Given the description of an element on the screen output the (x, y) to click on. 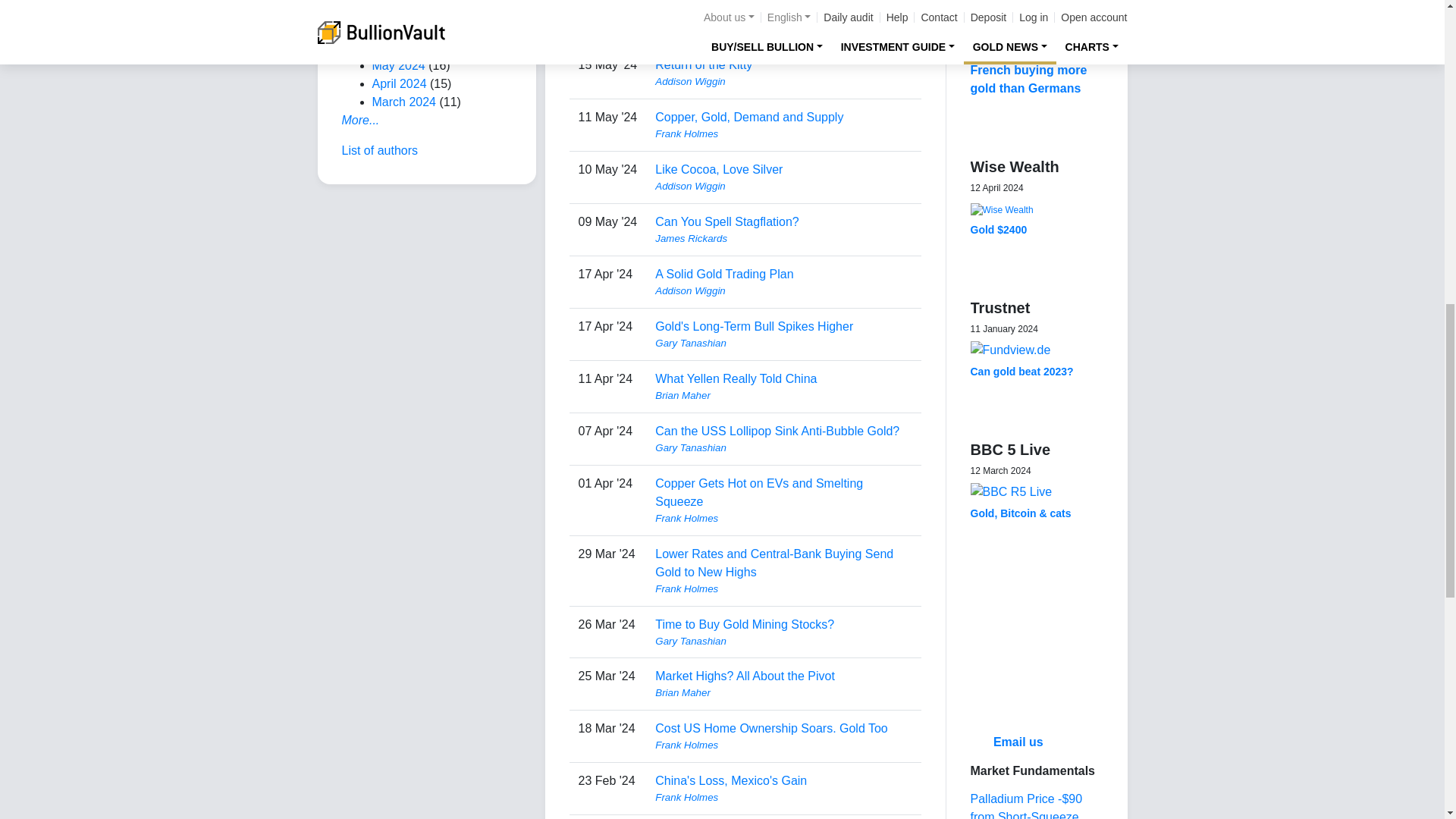
View user profile. (783, 29)
